Given the description of an element on the screen output the (x, y) to click on. 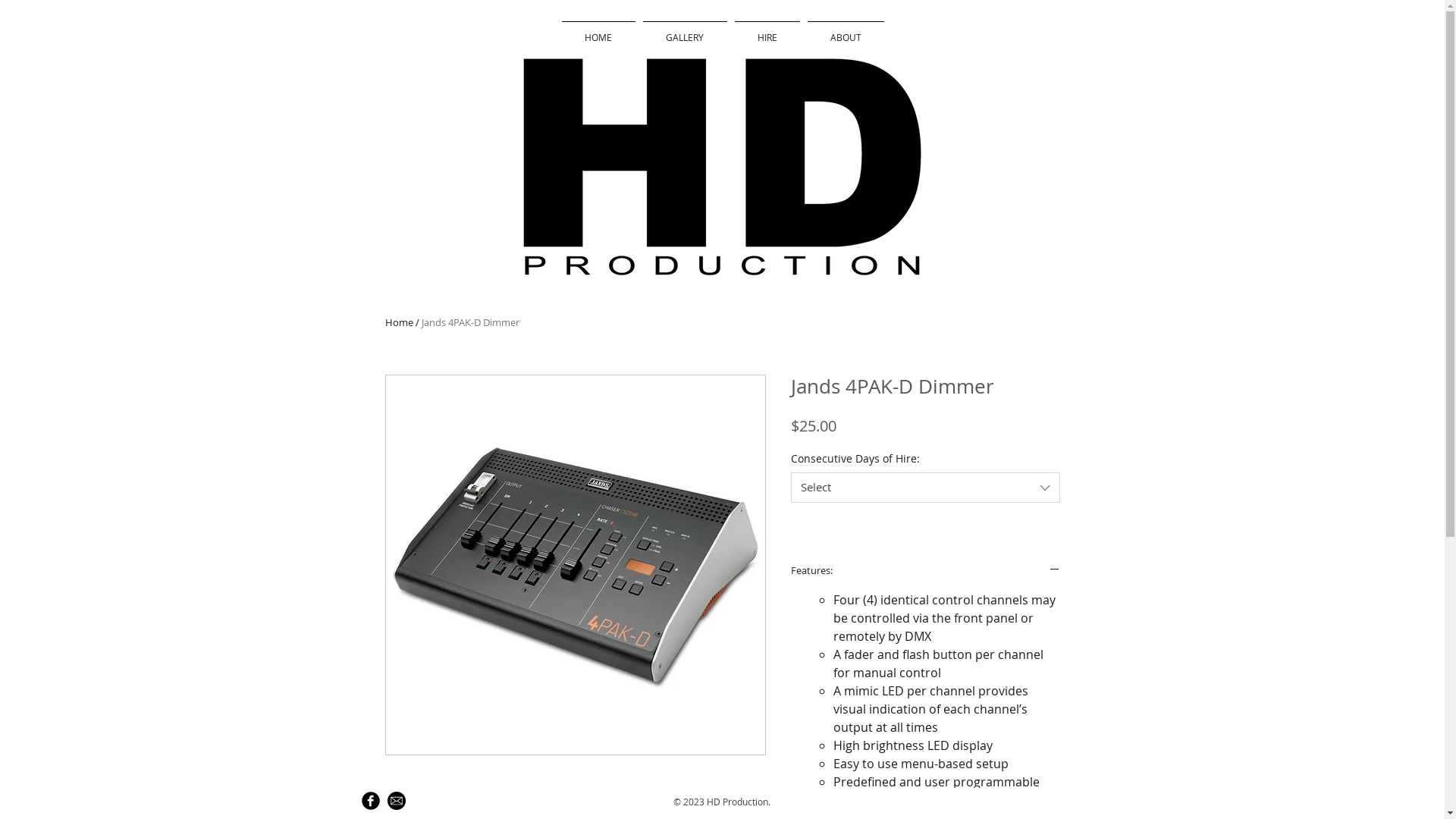
Jands 4PAK-D Dimmer Element type: text (470, 322)
Select Element type: text (924, 487)
Features: Element type: text (924, 570)
GALLERY Element type: text (684, 30)
Home Element type: text (399, 322)
ABOUT Element type: text (845, 30)
HIRE Element type: text (767, 30)
HD Production Element type: hover (721, 166)
HOME Element type: text (598, 30)
